Given the description of an element on the screen output the (x, y) to click on. 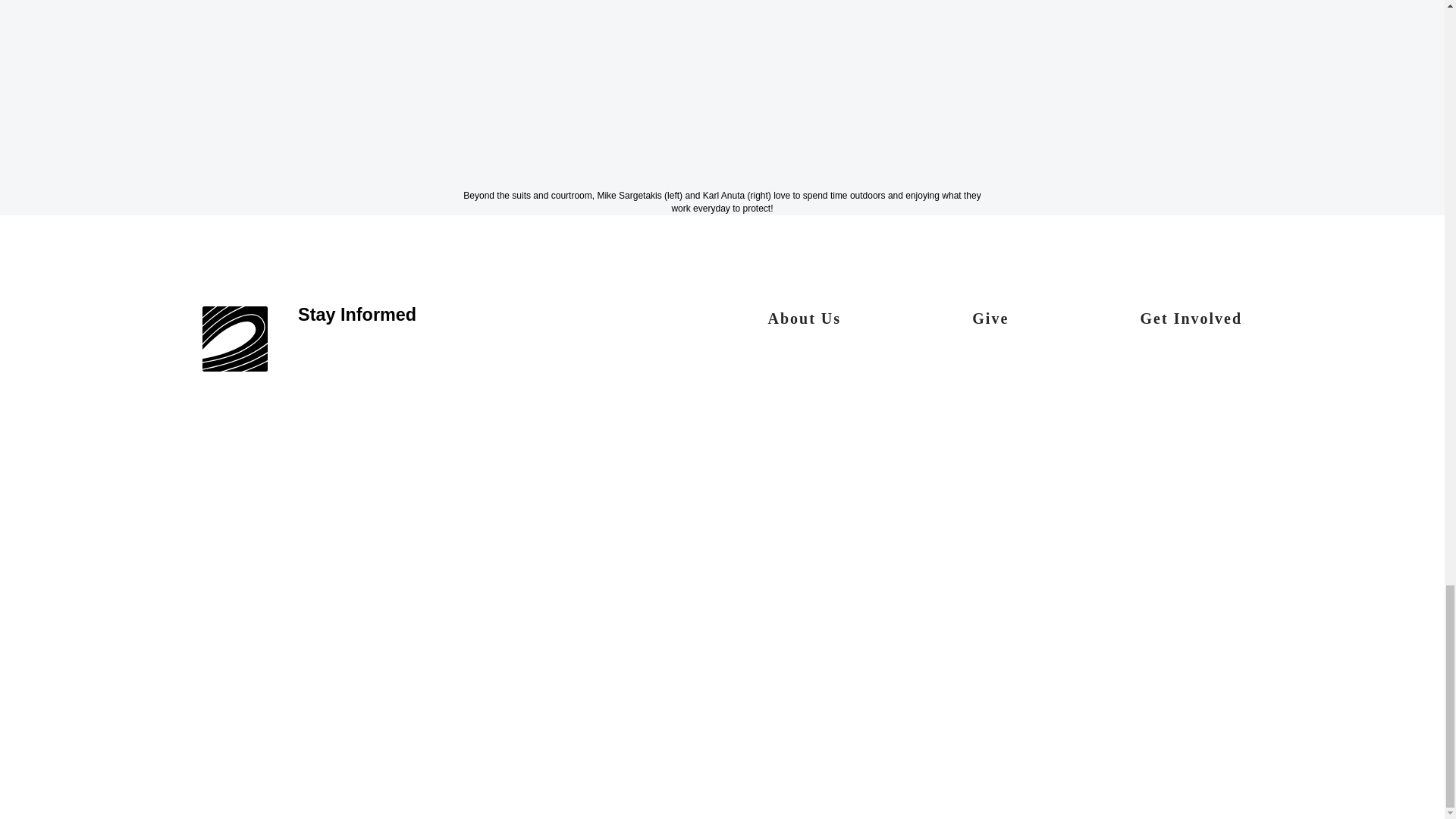
Financials (263, 782)
Surfrider Foundation (234, 340)
Get Involved (1191, 326)
Terms of Use (394, 782)
Legal (214, 782)
About Us (804, 326)
Contact Us (325, 782)
Give (990, 326)
Privacy Policy (468, 782)
